Given the description of an element on the screen output the (x, y) to click on. 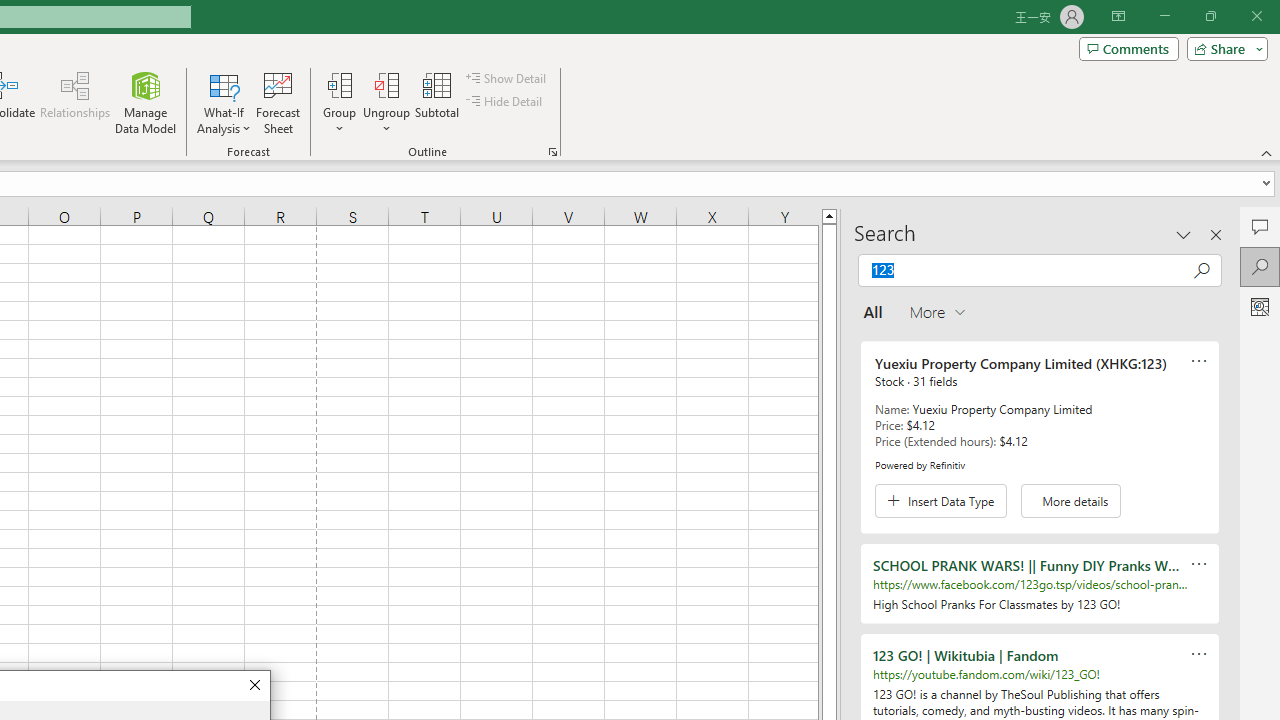
Group and Outline Settings (552, 151)
Group... (339, 84)
Restore Down (1210, 16)
Line up (829, 215)
Hide Detail (505, 101)
Subtotal (437, 102)
Ungroup... (386, 84)
Relationships (75, 102)
Group... (339, 102)
Minimize (1164, 16)
Close (253, 686)
Comments (1260, 226)
